Given the description of an element on the screen output the (x, y) to click on. 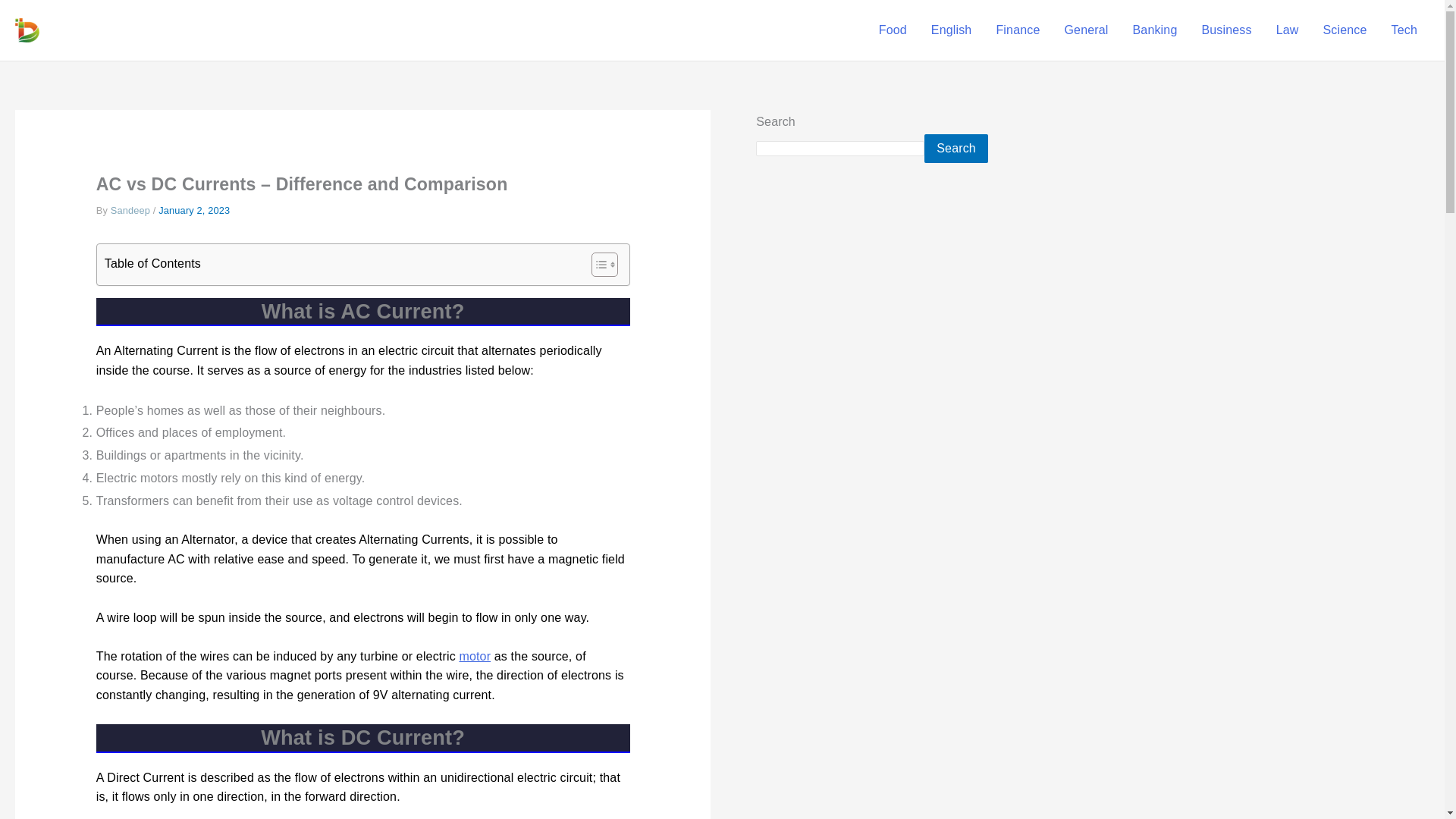
View all posts by Sandeep (131, 210)
General (1085, 30)
Finance (1017, 30)
Business (1226, 30)
Banking (1155, 30)
Science (1344, 30)
motor (474, 656)
Search (956, 148)
English (951, 30)
motor (474, 656)
